Given the description of an element on the screen output the (x, y) to click on. 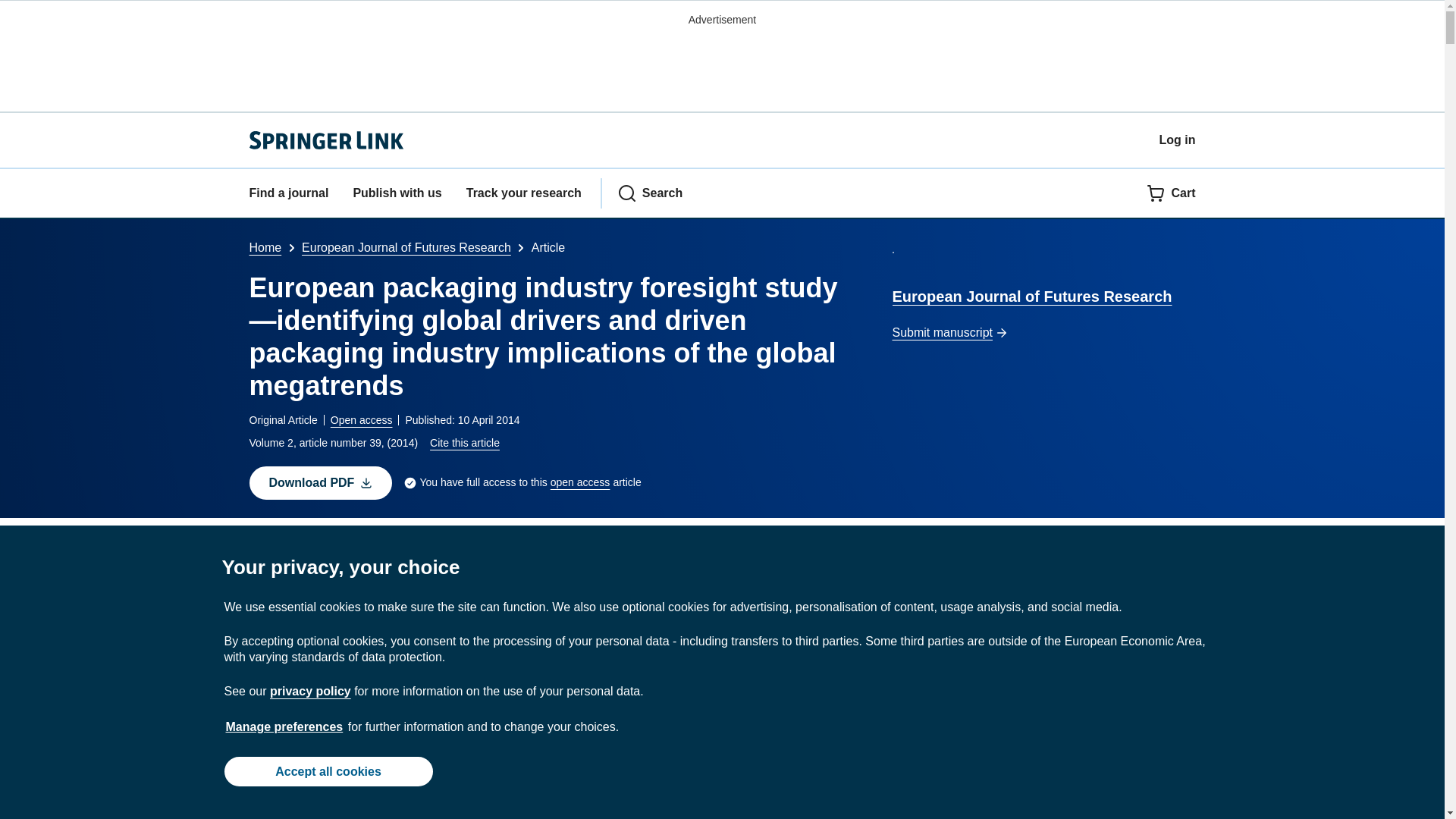
Open access (361, 419)
Cart (1170, 192)
Log in (1177, 139)
Find a journal (288, 192)
Explore all metrics (527, 588)
Publish with us (396, 192)
Carl Olsmats (294, 548)
European Journal of Futures Research (406, 246)
privacy policy (309, 690)
Accept all cookies (328, 771)
